Given the description of an element on the screen output the (x, y) to click on. 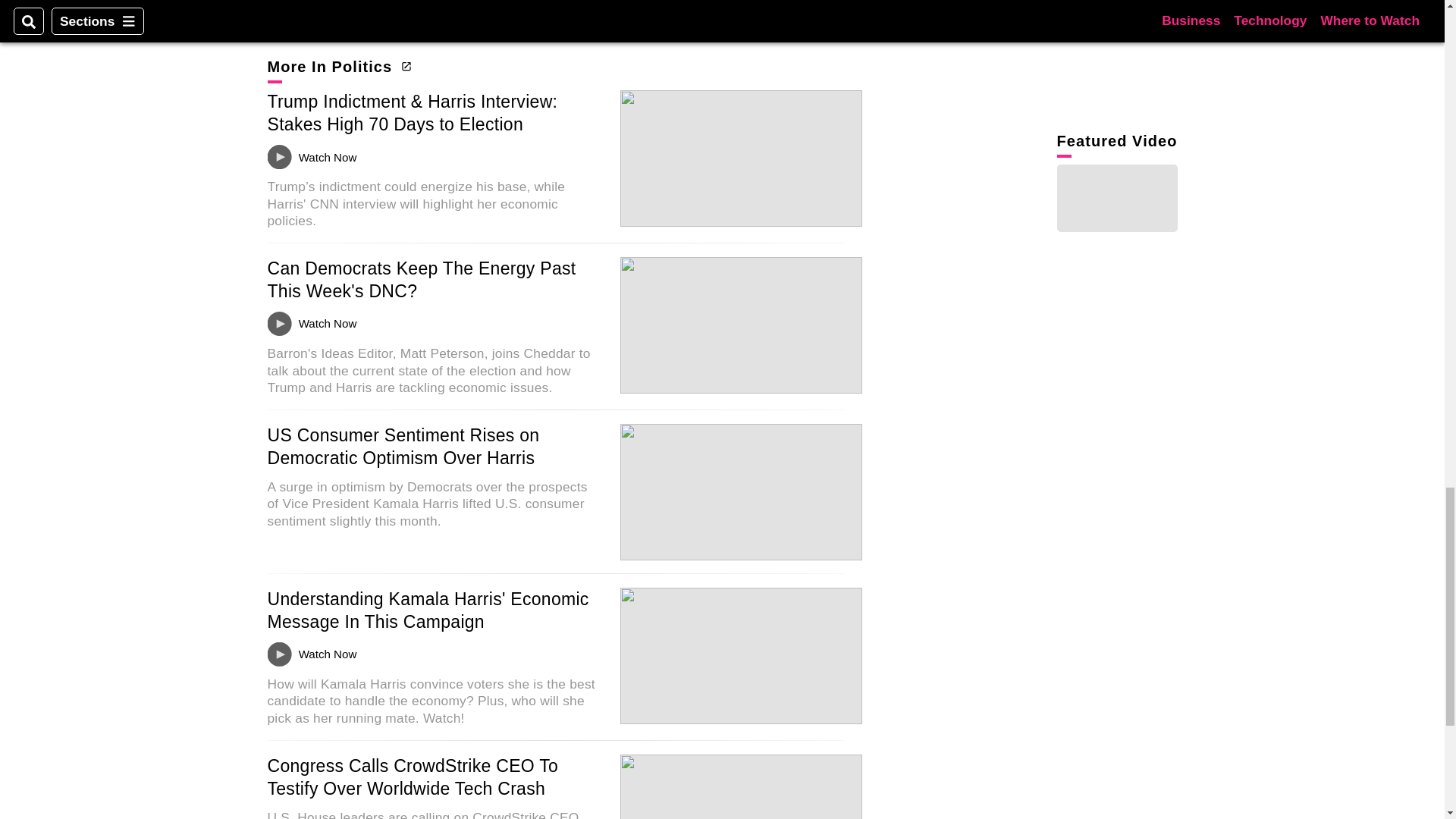
More In Politics (336, 66)
Can Democrats Keep The Energy Past This Week's DNC? (420, 279)
